Given the description of an element on the screen output the (x, y) to click on. 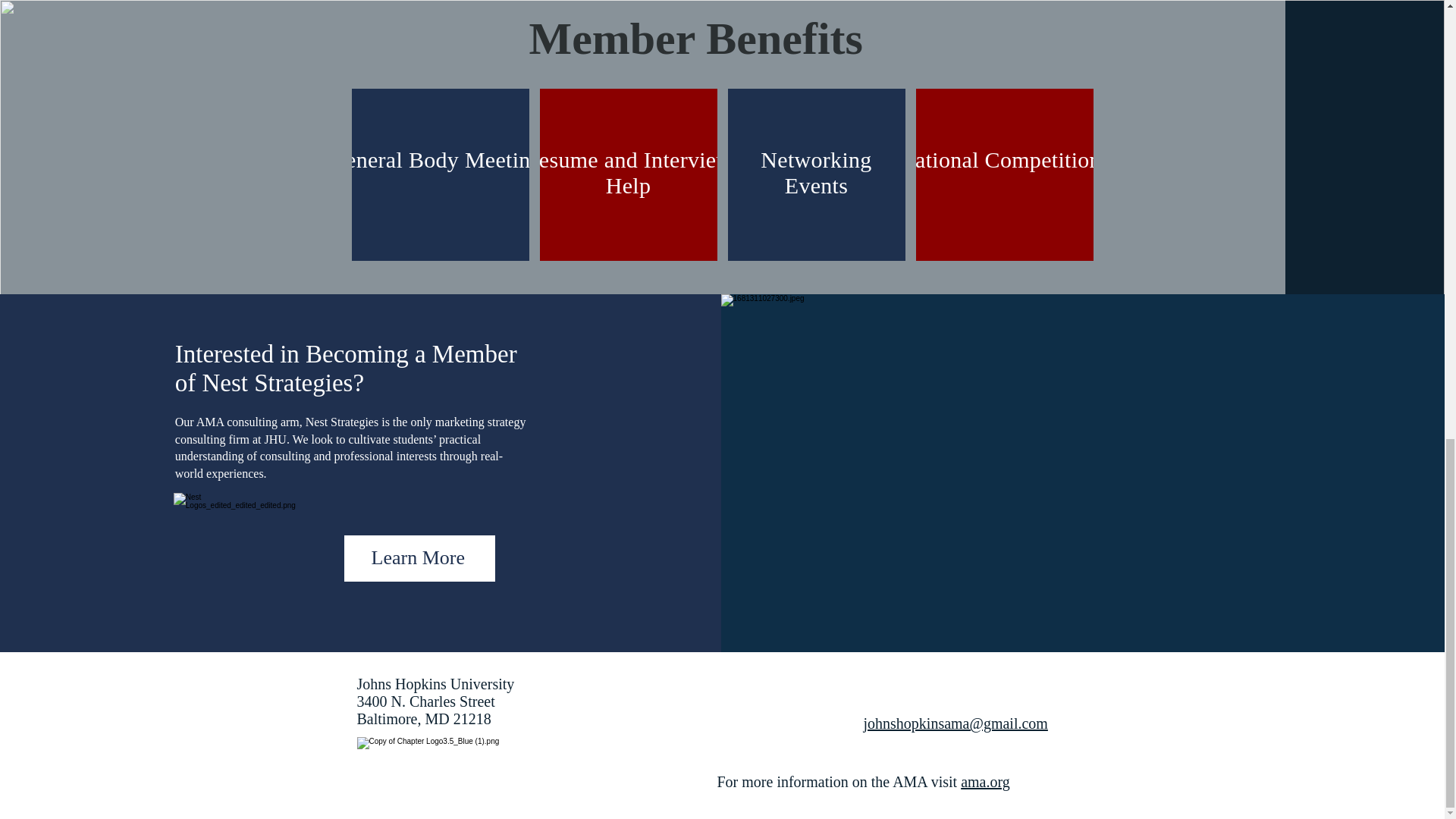
Learn More (419, 558)
ama.org (985, 781)
